Given the description of an element on the screen output the (x, y) to click on. 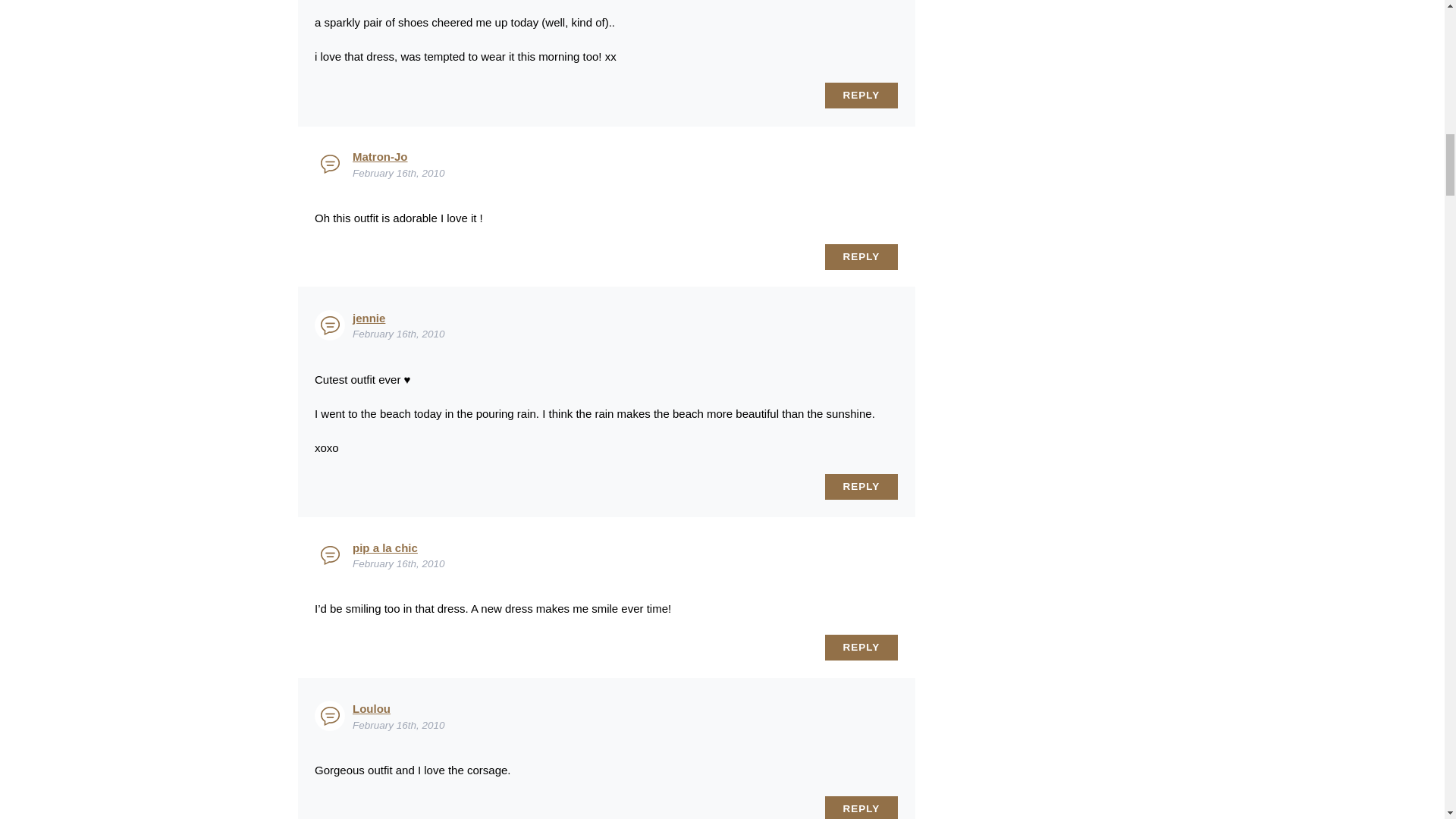
REPLY (861, 257)
February 16th, 2010 (398, 173)
February 16th, 2010 (398, 563)
Matron-Jo (379, 155)
REPLY (861, 95)
REPLY (861, 647)
pip a la chic (384, 547)
jennie (368, 318)
February 16th, 2010 (398, 333)
REPLY (861, 486)
